Given the description of an element on the screen output the (x, y) to click on. 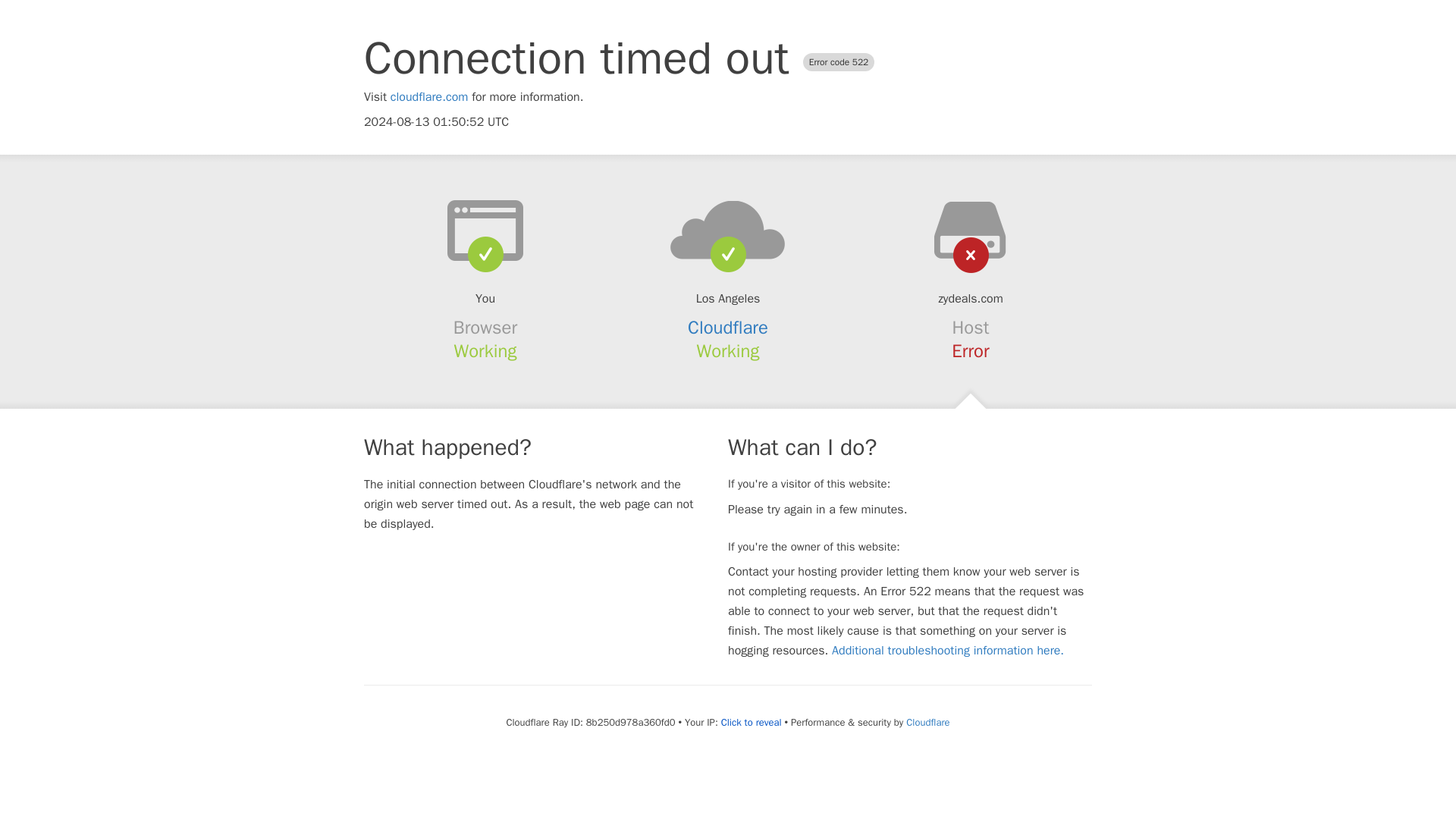
Click to reveal (750, 722)
Additional troubleshooting information here. (947, 650)
Cloudflare (927, 721)
Cloudflare (727, 327)
cloudflare.com (429, 96)
